Given the description of an element on the screen output the (x, y) to click on. 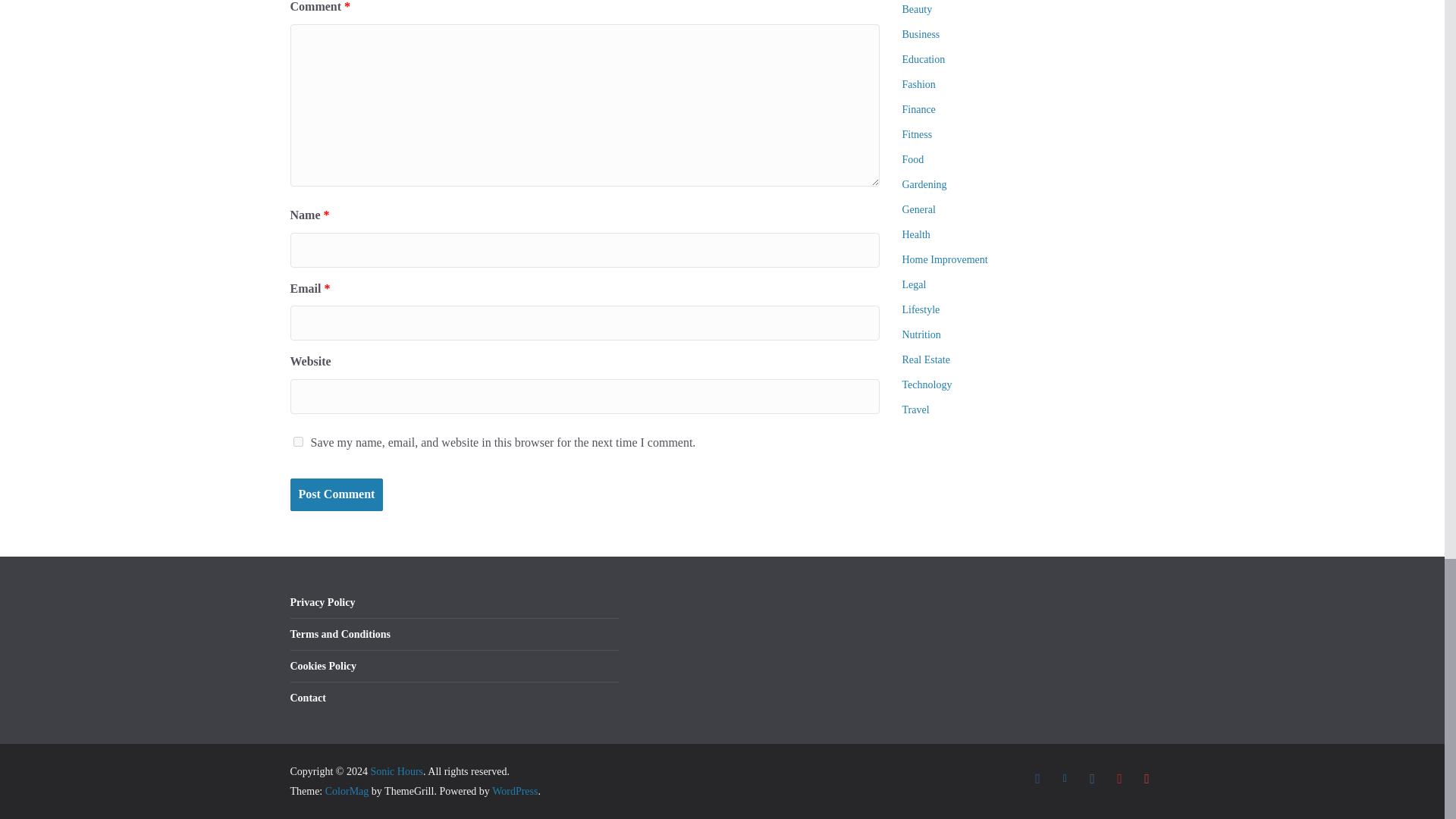
Post Comment (335, 494)
yes (297, 441)
Post Comment (335, 494)
